Given the description of an element on the screen output the (x, y) to click on. 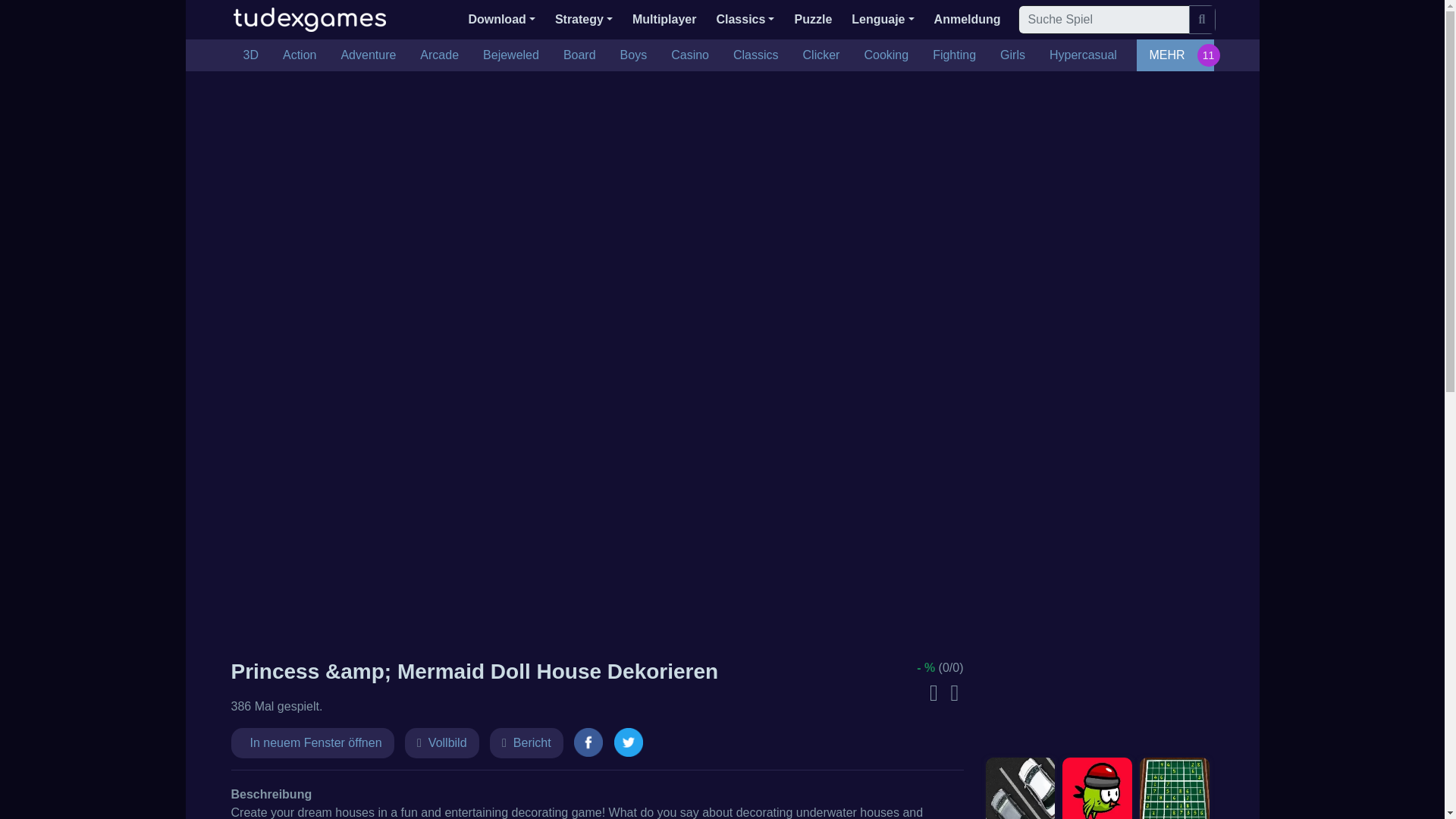
Action (299, 55)
3D (249, 55)
Advertisement (1096, 643)
Puzzle (812, 19)
Download (501, 19)
Fighting (954, 55)
Board (579, 55)
Multiplayer (663, 19)
Advertisement (1096, 423)
Adventure (368, 55)
MEHR (1174, 55)
Bejeweled (510, 55)
Cooking (885, 55)
Anmeldung (967, 19)
Girls (1012, 55)
